Given the description of an element on the screen output the (x, y) to click on. 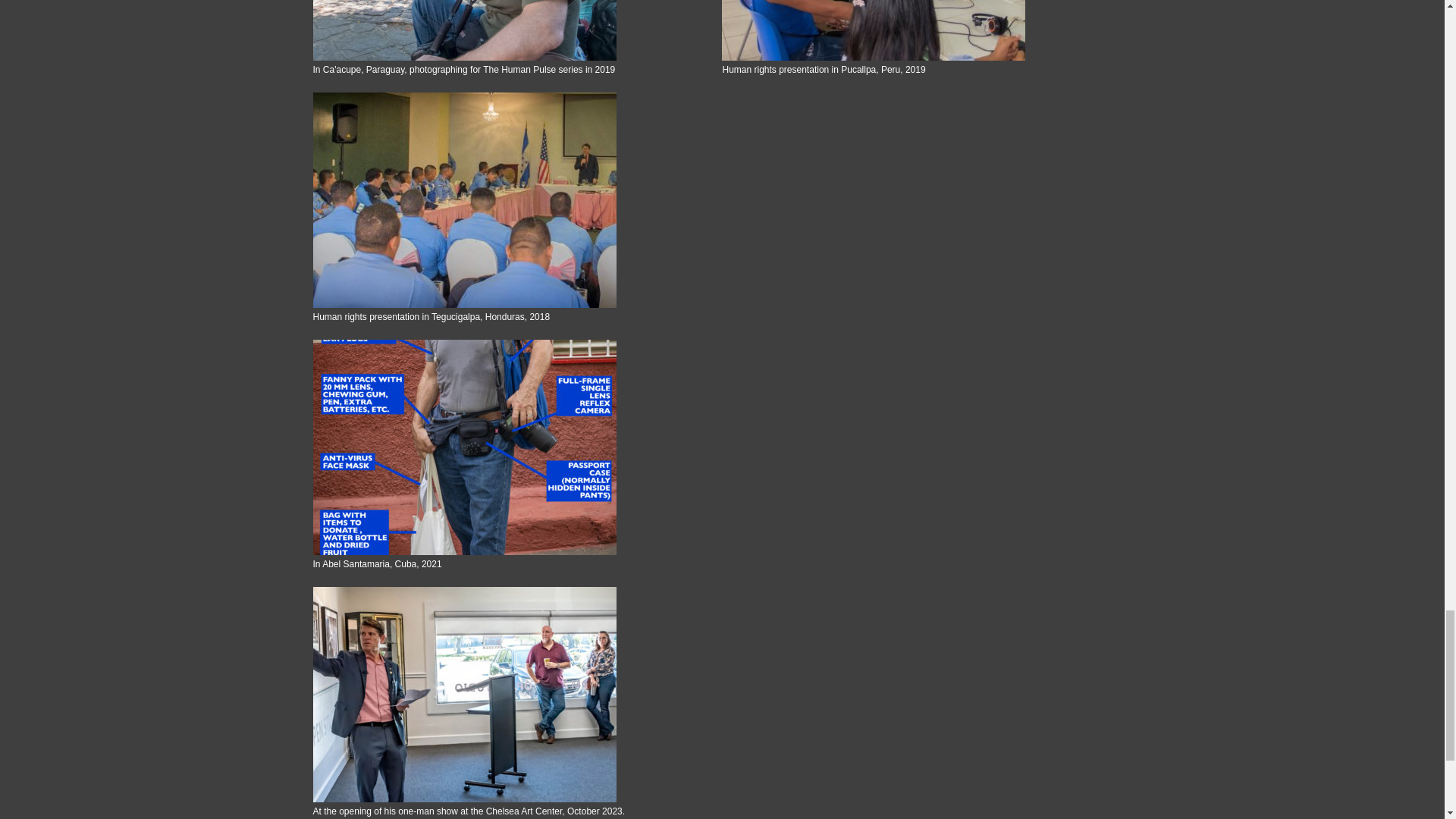
Human rights presentation in Pucallpa, Peru, 2019 (918, 30)
